Given the description of an element on the screen output the (x, y) to click on. 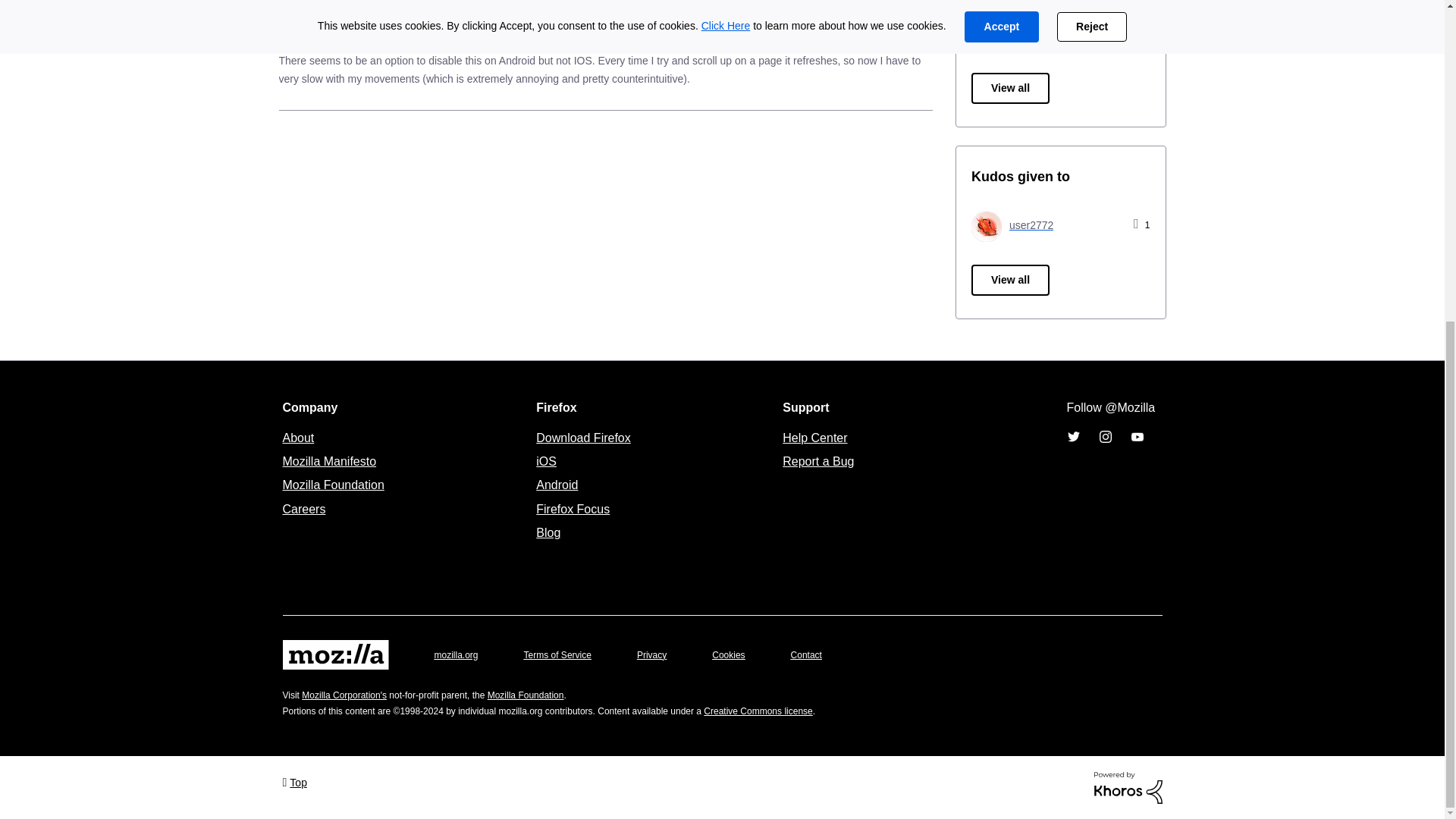
Youtube (1135, 436)
Firefox Focus (572, 508)
Mozilla Manifesto (328, 461)
Blog (547, 532)
Report a Bug (818, 461)
03-01-2024 08:41 AM 03-01-2024 08:41 AM (905, 14)
Twitter (1072, 436)
Top (293, 781)
Download Firefox (582, 437)
ZedFNels (1013, 32)
Discussions (453, 34)
user2772 (1011, 224)
Careers (303, 508)
GoodGravy (322, 34)
user2772 (986, 226)
